Given the description of an element on the screen output the (x, y) to click on. 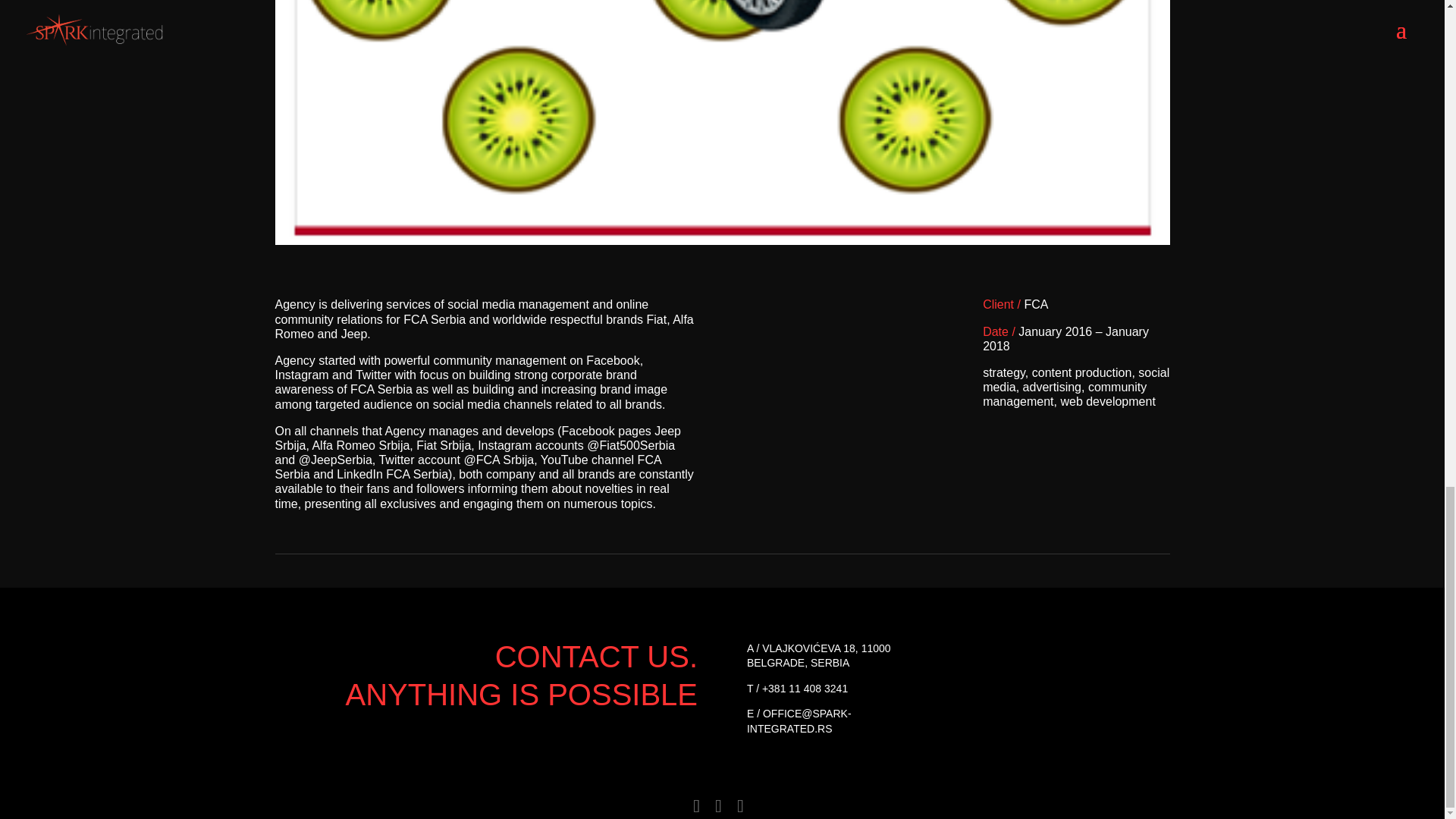
FIAT 500C (722, 244)
